Given the description of an element on the screen output the (x, y) to click on. 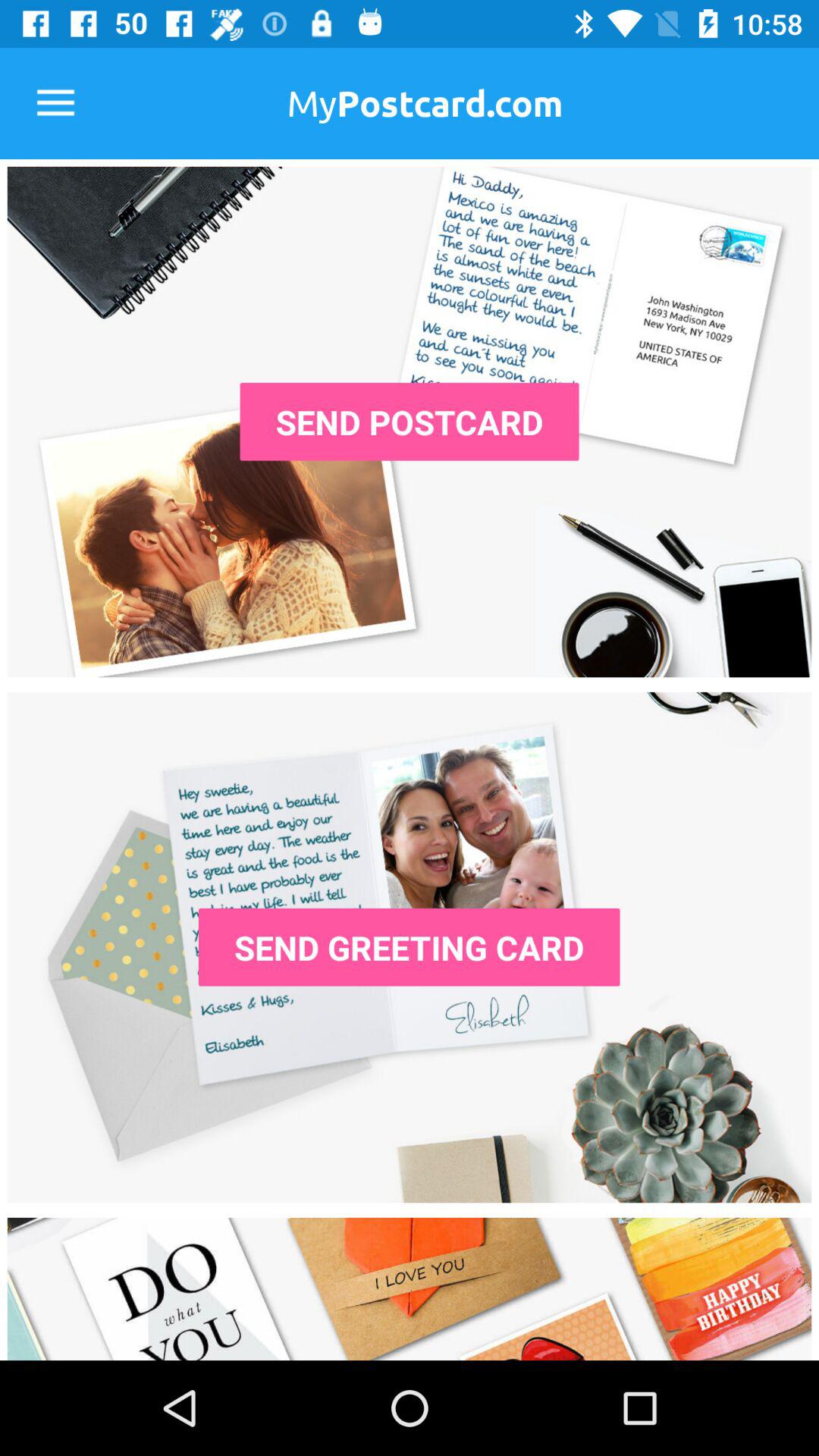
turn off icon to the left of the mypostcard.com item (55, 103)
